Given the description of an element on the screen output the (x, y) to click on. 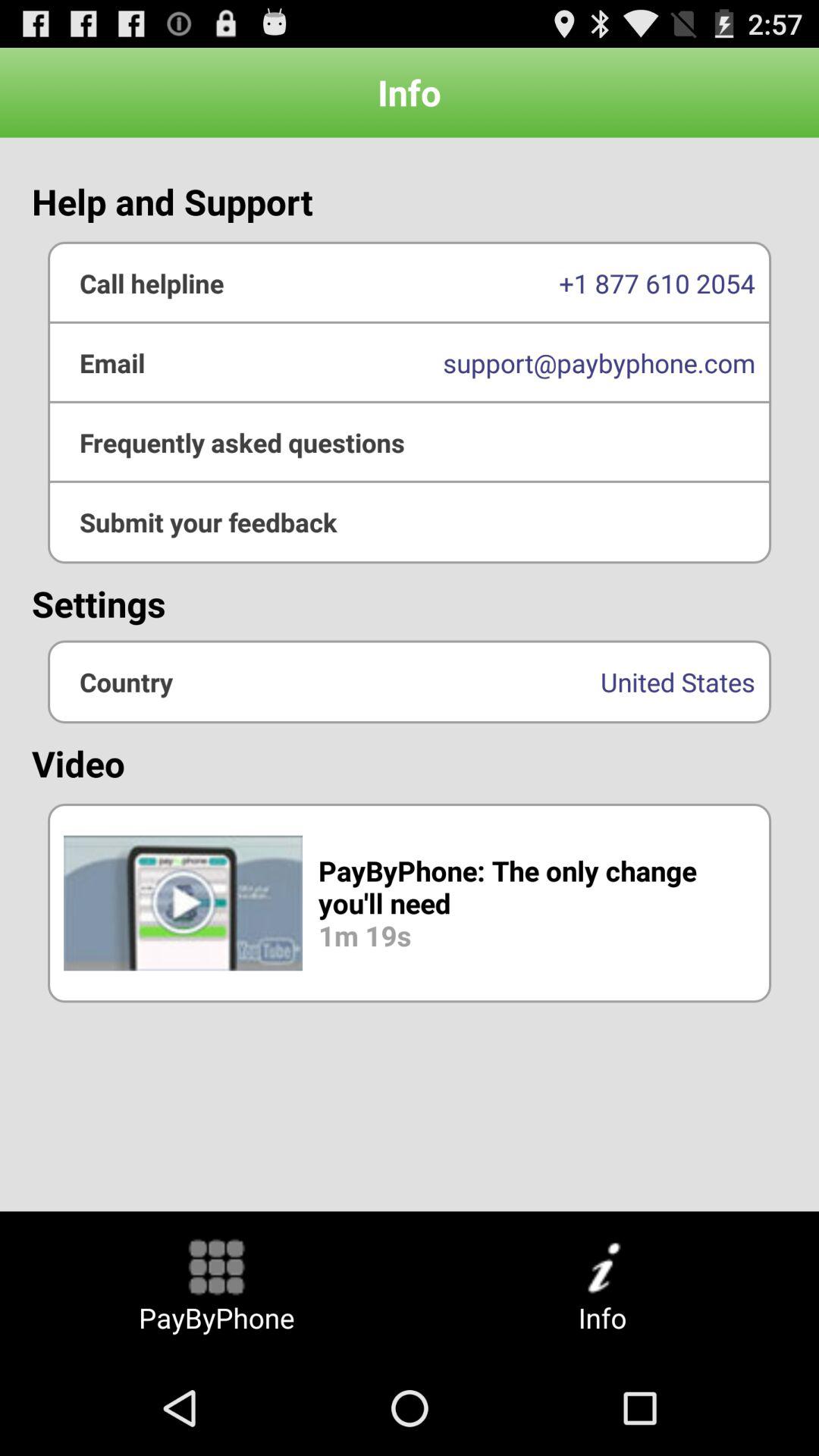
jump to the 1 877 610 (409, 282)
